Given the description of an element on the screen output the (x, y) to click on. 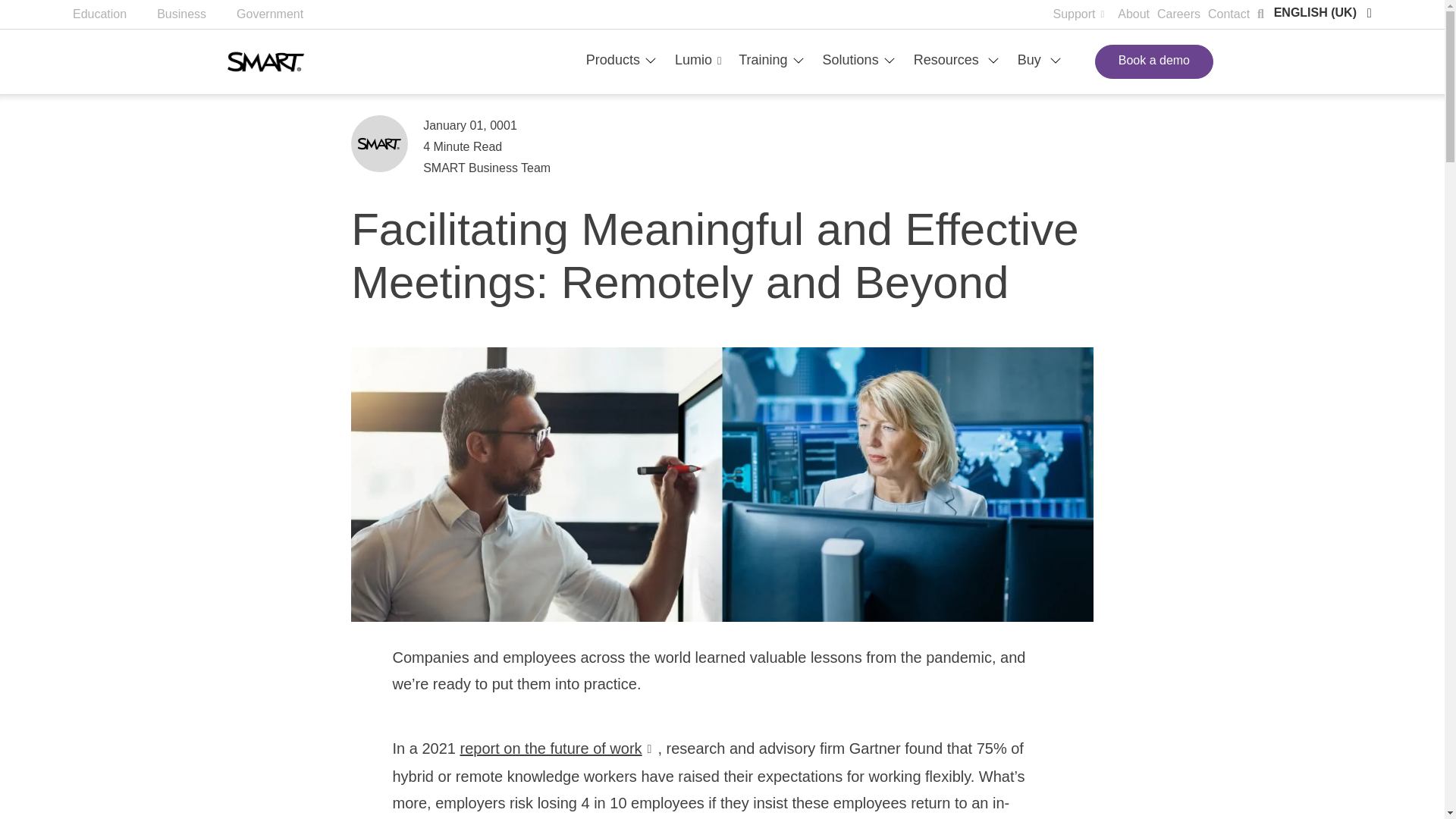
Business (196, 14)
Book a demo (1153, 61)
Buy (1037, 59)
Government (284, 14)
Lumio (700, 60)
Products (619, 59)
Education (114, 14)
About (1137, 14)
Solutions (856, 59)
Training (768, 59)
